Given the description of an element on the screen output the (x, y) to click on. 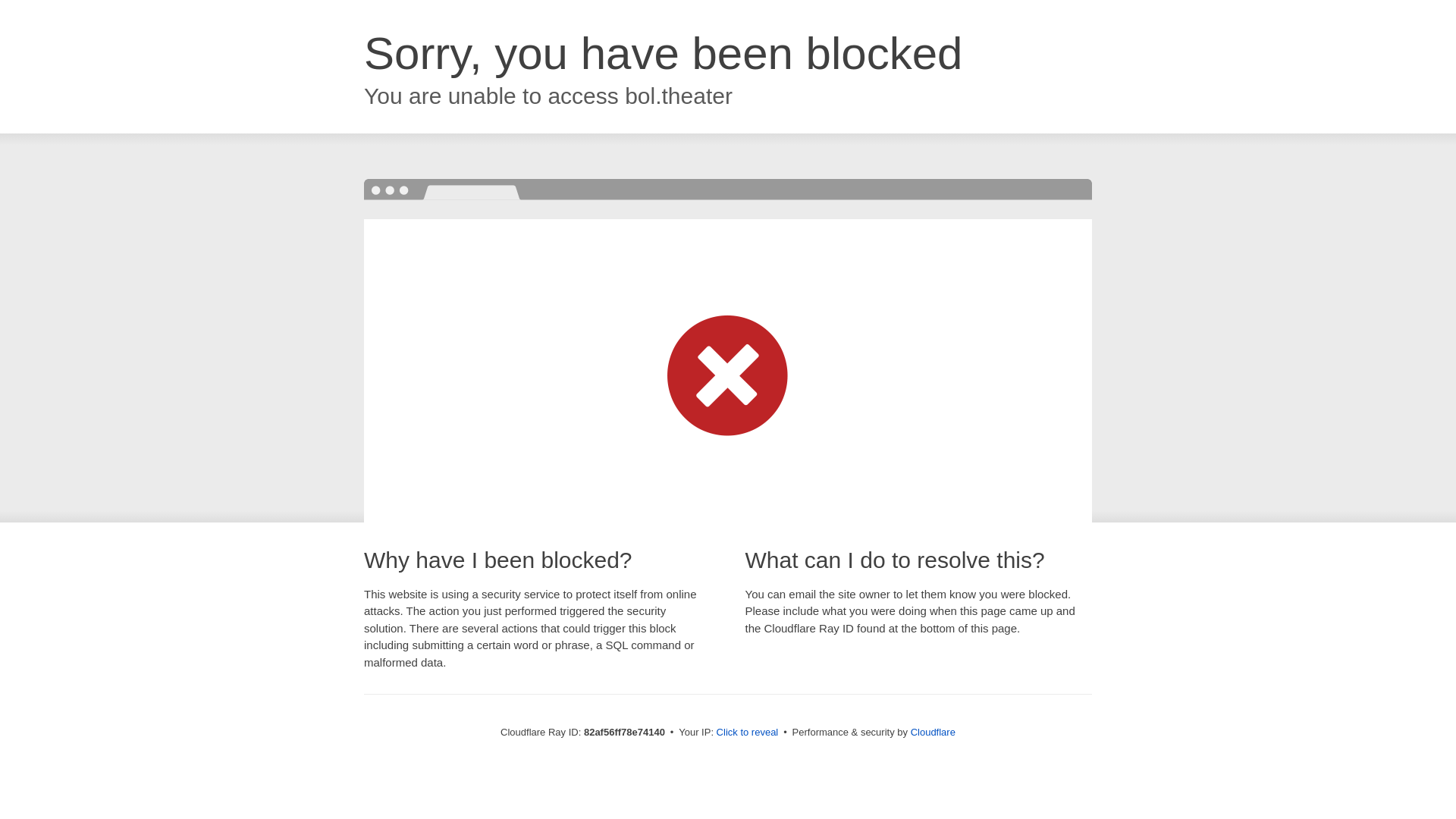
Click to reveal Element type: text (747, 732)
Cloudflare Element type: text (932, 731)
